Given the description of an element on the screen output the (x, y) to click on. 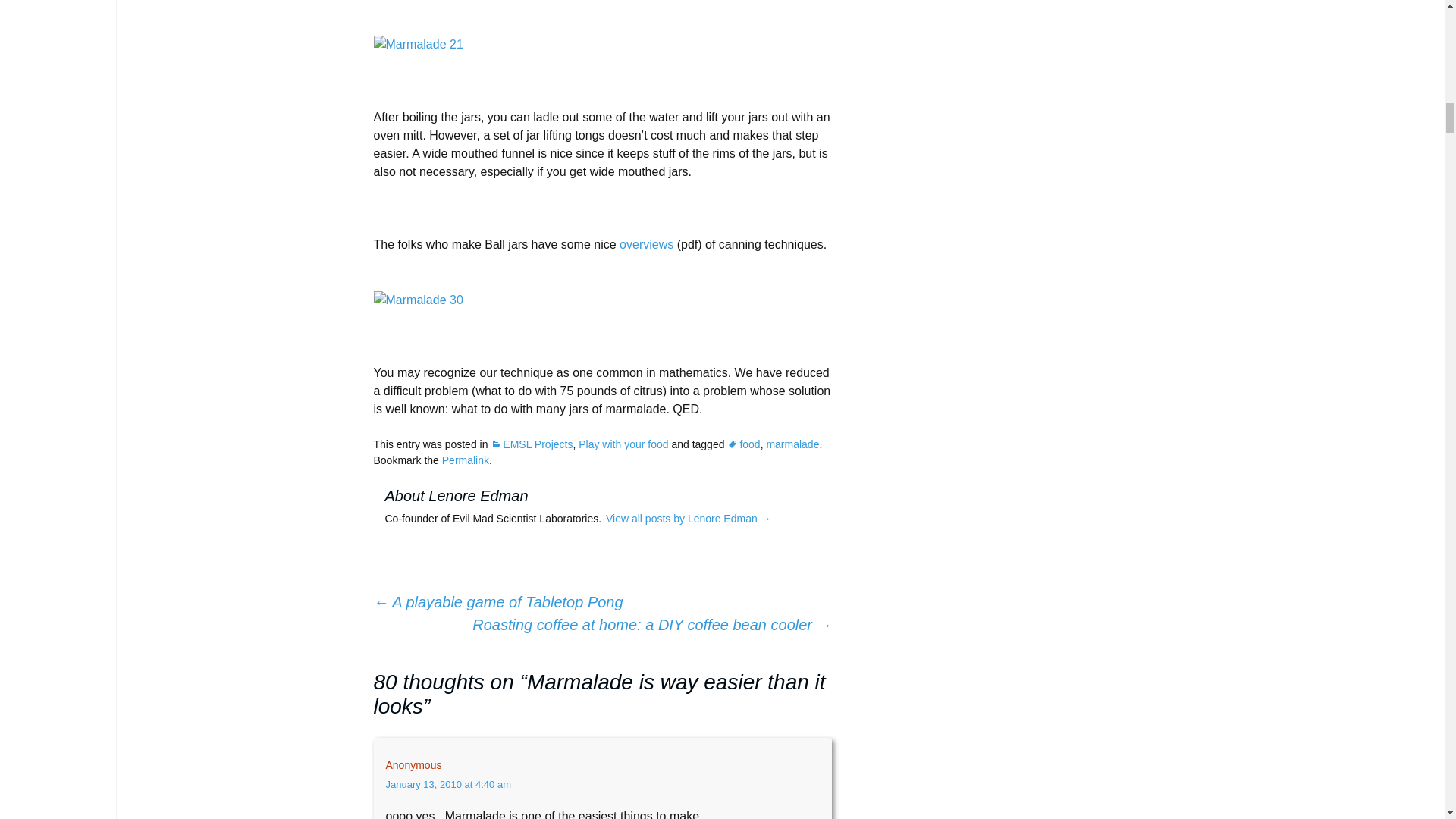
overviews (646, 244)
Permalink (465, 460)
food (743, 444)
January 13, 2010 at 4:40 am (448, 784)
Play with your food (623, 444)
marmalade (791, 444)
EMSL Projects (531, 444)
